Given the description of an element on the screen output the (x, y) to click on. 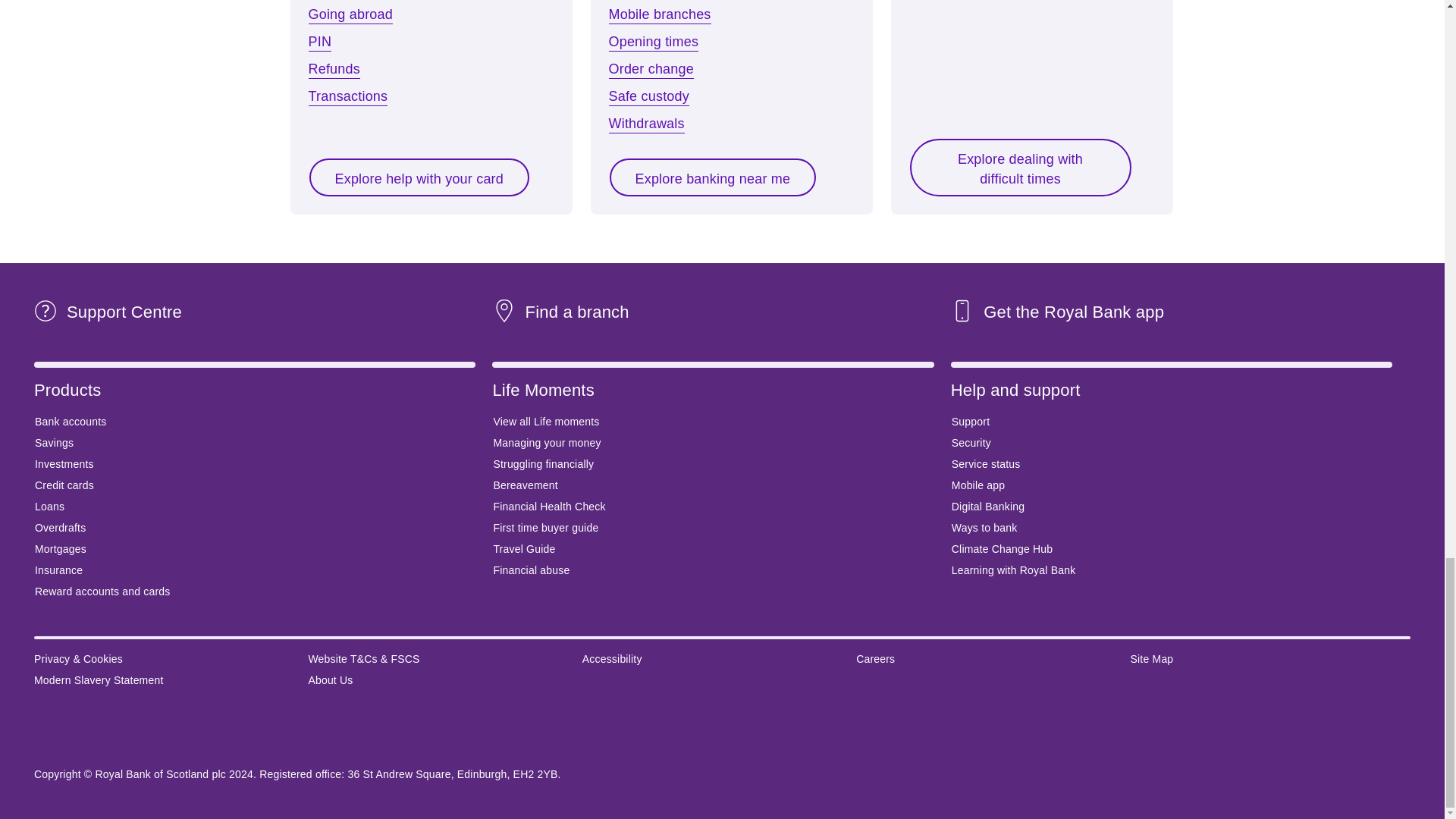
fscs (154, 733)
Explore banking near me (712, 176)
Explore dealing with difficult times (1019, 167)
Explore help with your card (418, 176)
